Given the description of an element on the screen output the (x, y) to click on. 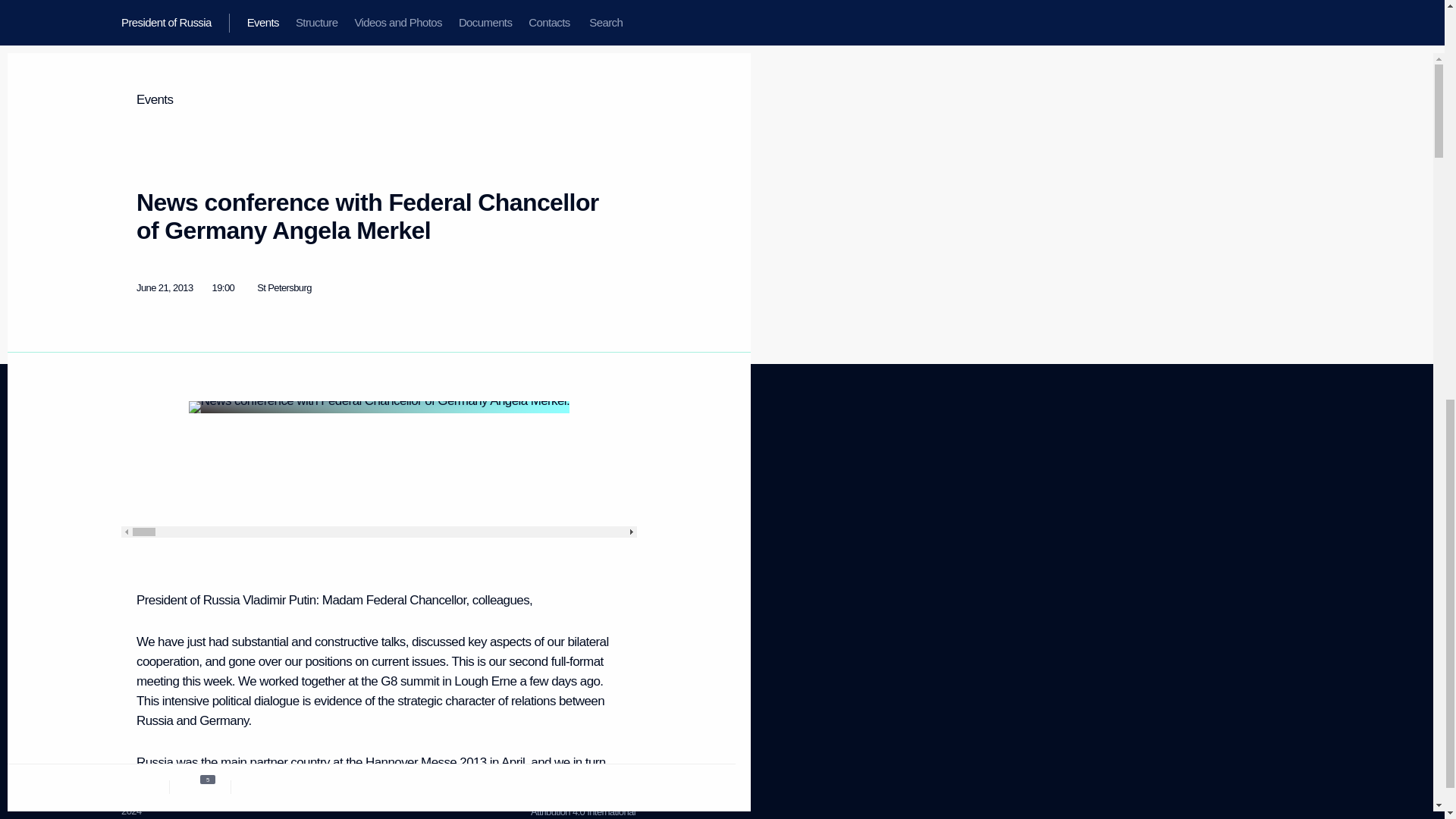
About website (558, 480)
Telegram Channel (430, 496)
Contacts (138, 556)
Structure (138, 500)
Contact website team (573, 550)
The Constitution of Russia (309, 512)
For the Media (148, 611)
Subscribe (140, 646)
YouTube Channel (429, 514)
State Insignia (284, 531)
